Given the description of an element on the screen output the (x, y) to click on. 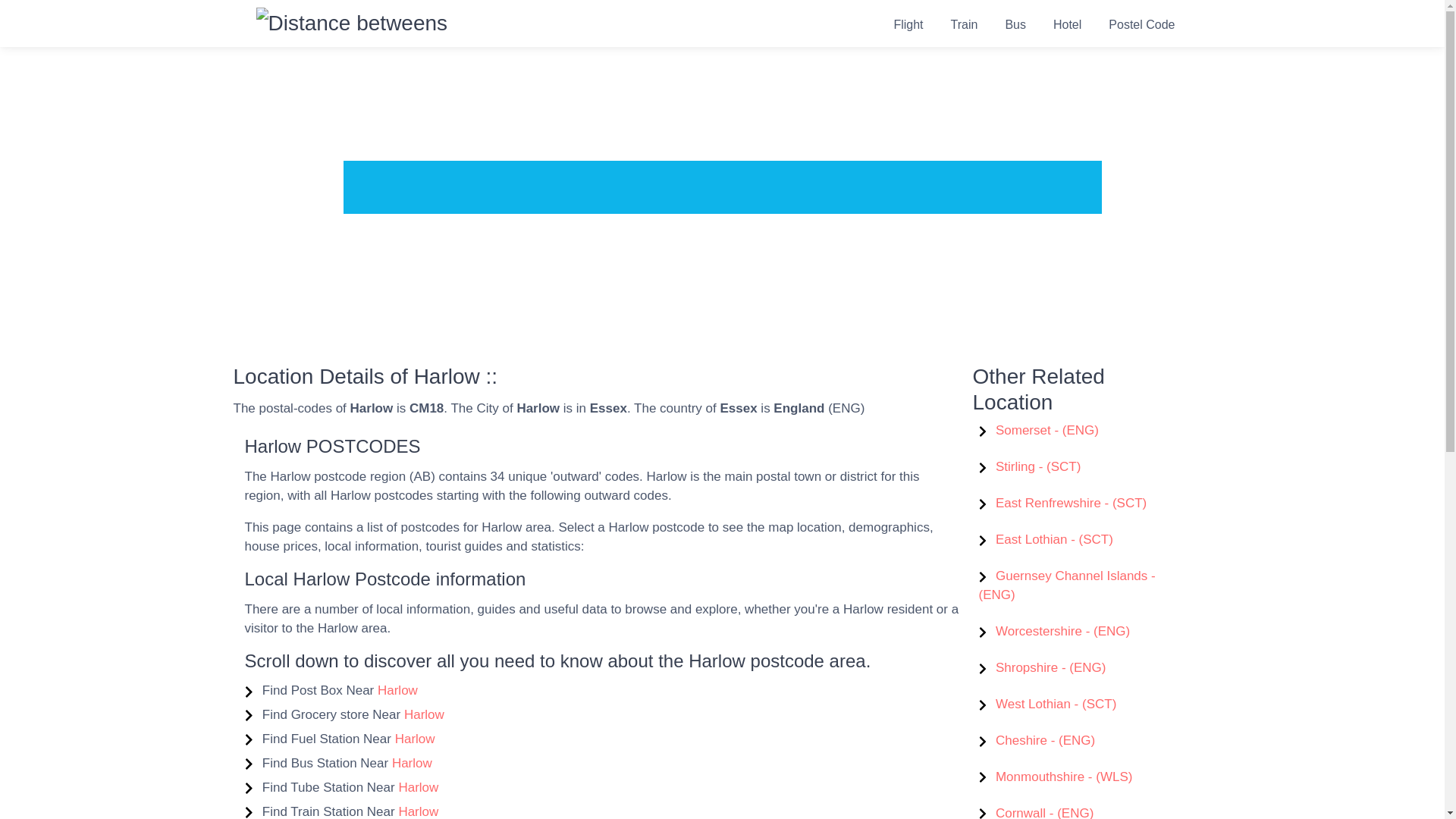
Harlow (411, 762)
Postel Code (1141, 23)
Hotel (1066, 23)
Harlow (417, 787)
Harlow (417, 811)
Flight (907, 23)
Train (964, 23)
Harlow (424, 714)
Harlow (414, 739)
Bus (1015, 23)
